Given the description of an element on the screen output the (x, y) to click on. 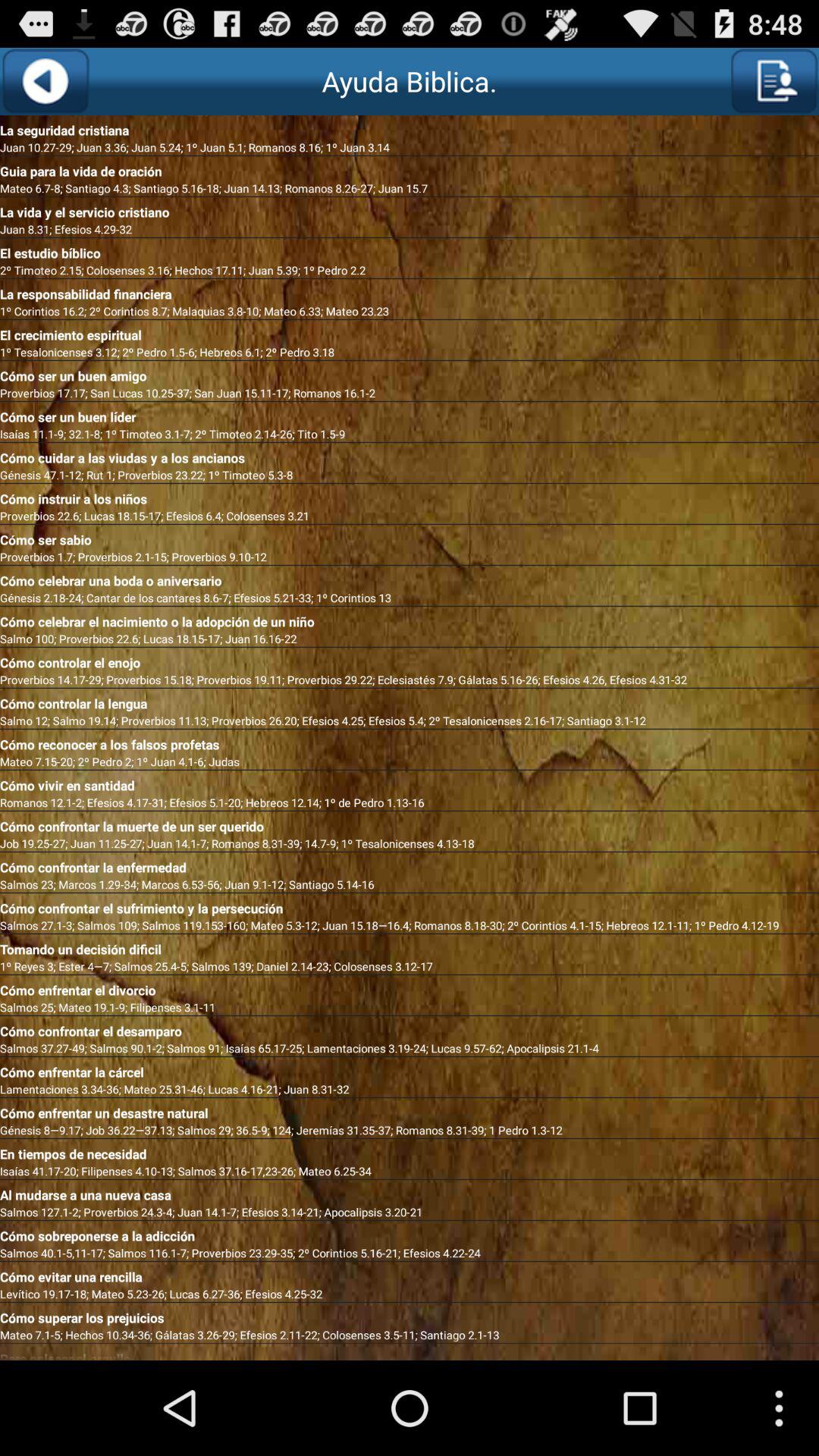
choose the icon below the salmos 27 1 (409, 946)
